Given the description of an element on the screen output the (x, y) to click on. 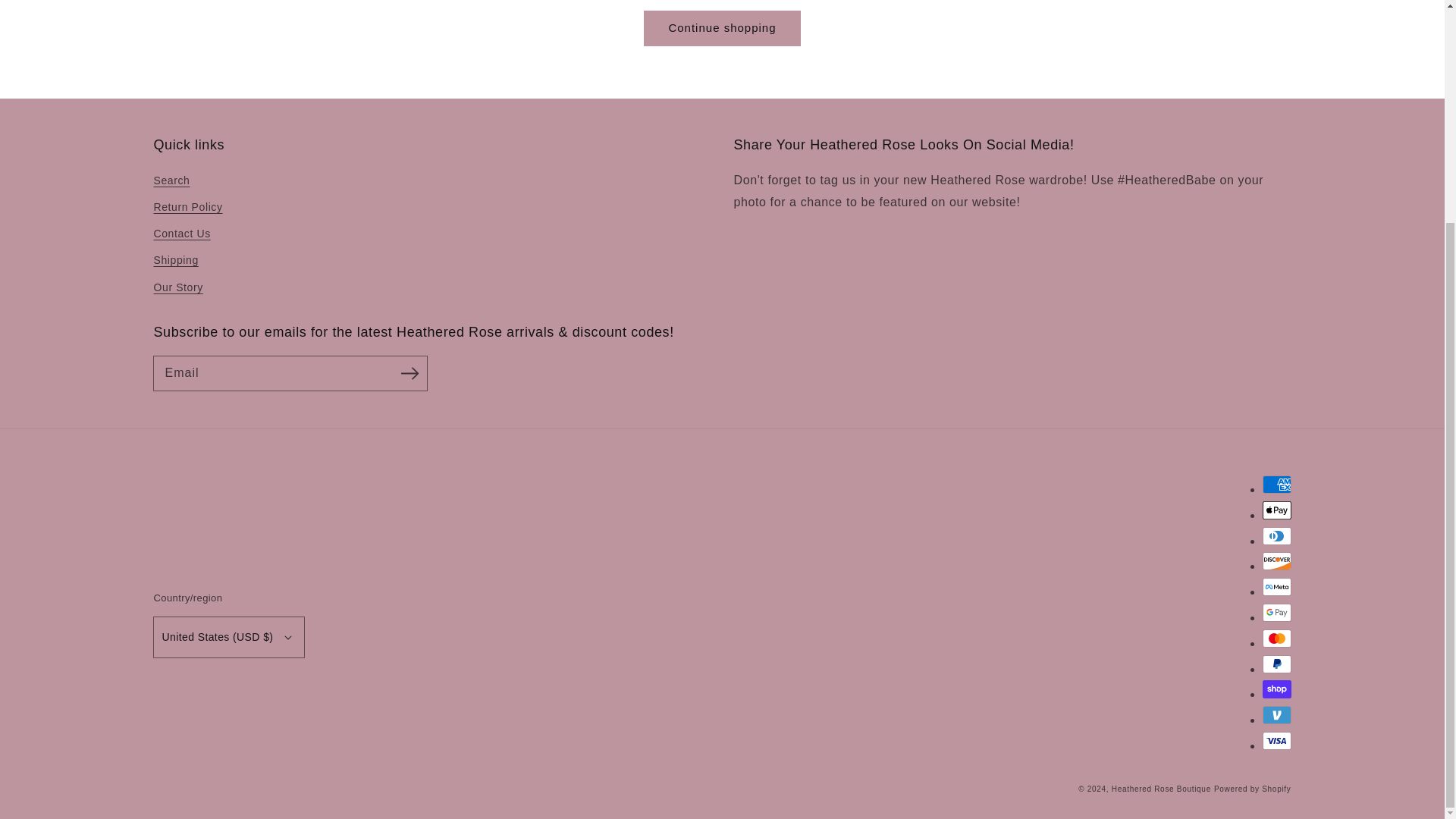
Google Pay (1276, 612)
Discover (1276, 561)
Meta Pay (1276, 587)
Heathered Rose Boutique (1161, 788)
PayPal (1276, 664)
Diners Club (1276, 536)
Our Story (177, 287)
Return Policy (187, 207)
Visa (1276, 741)
Shop Pay (1276, 689)
